Given the description of an element on the screen output the (x, y) to click on. 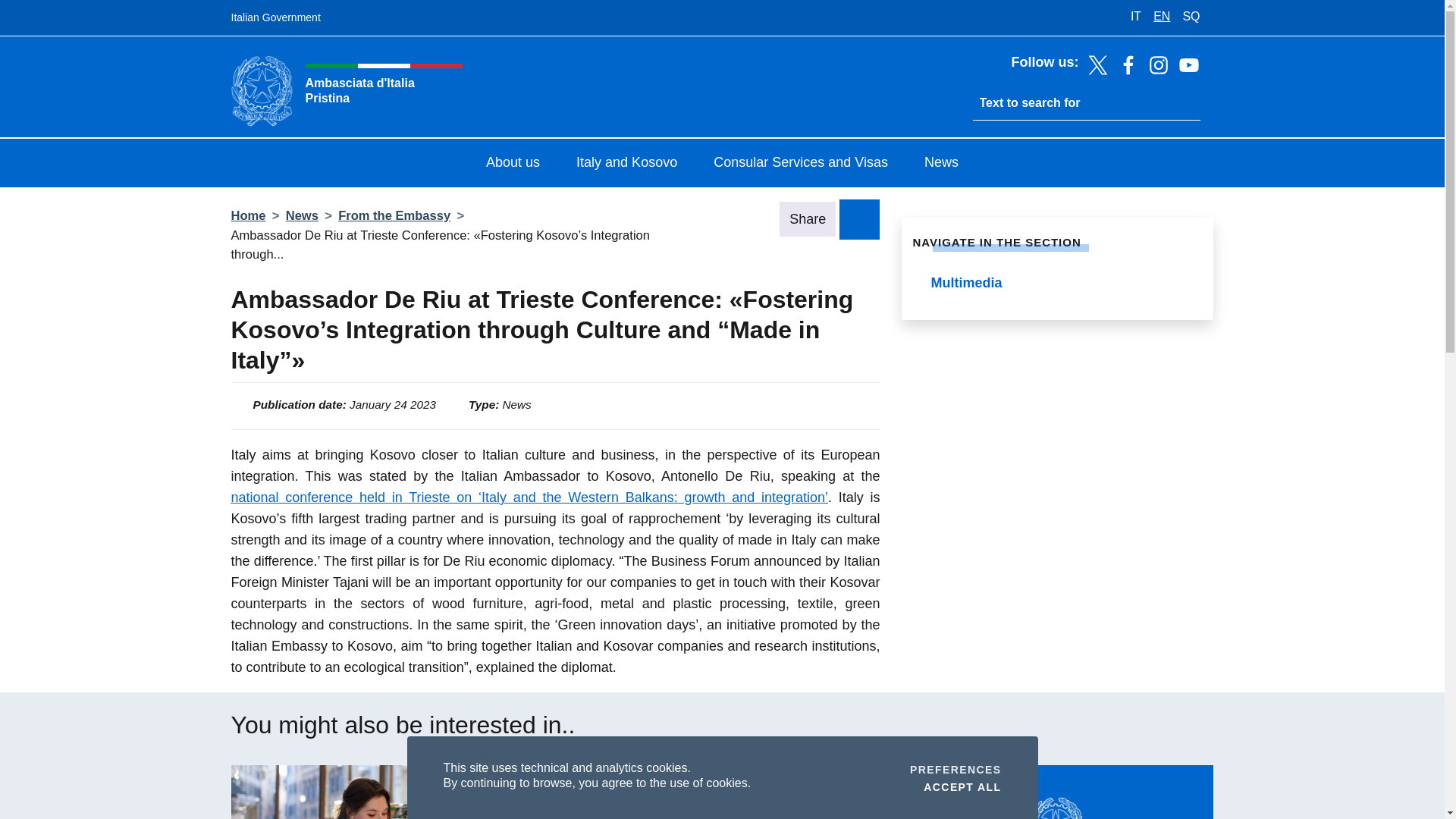
Multimedia (1057, 282)
Italy and Kosovo (626, 163)
News (301, 215)
Share on Social Network (859, 218)
Share on Social Network (859, 218)
foto22 (721, 791)
Consular Services and Visas (800, 163)
Italian Government (275, 18)
young woman flipping through book at bookstall (955, 769)
Home (962, 786)
From the Embassy (388, 791)
